Given the description of an element on the screen output the (x, y) to click on. 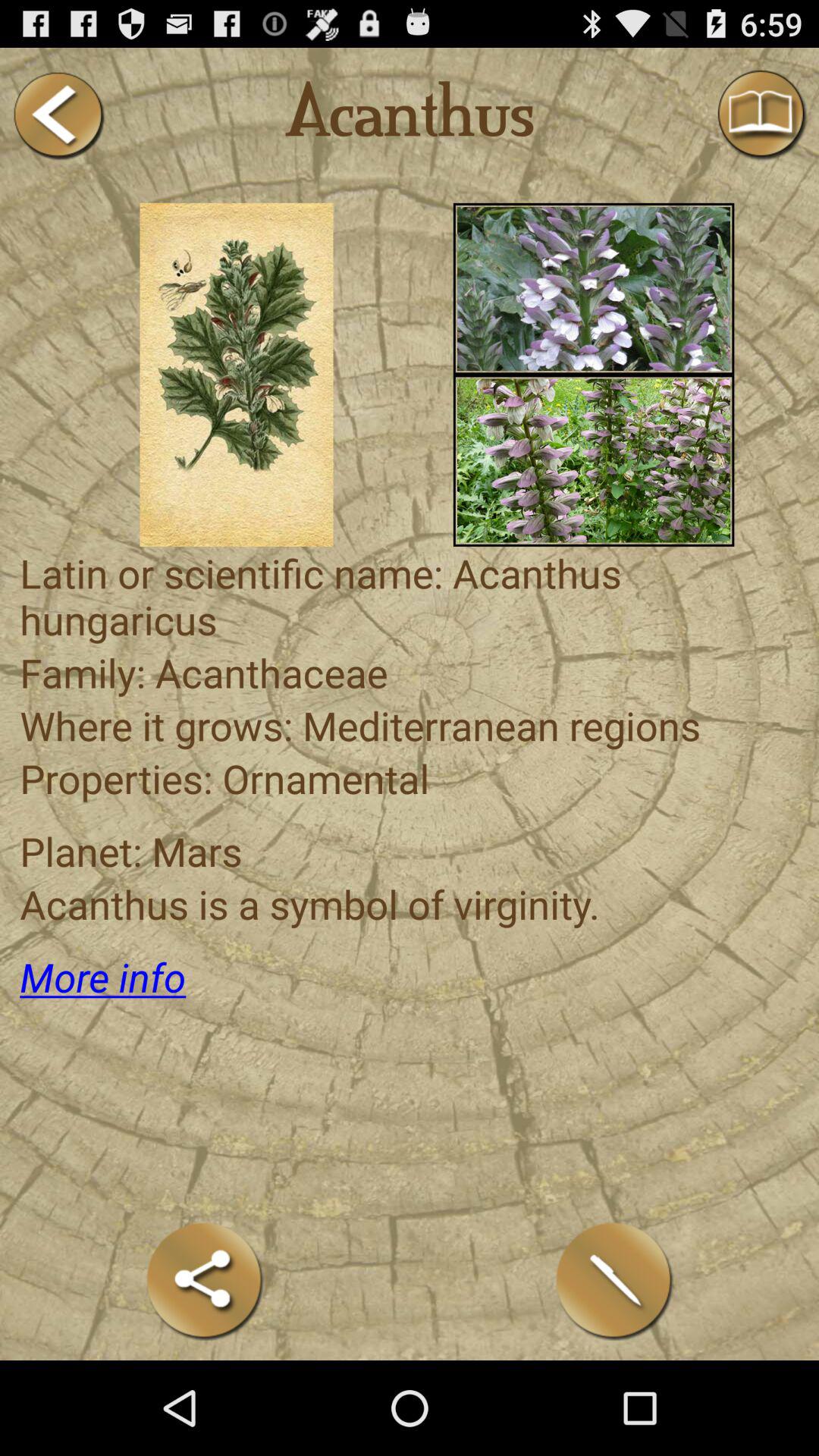
next button (57, 115)
